Given the description of an element on the screen output the (x, y) to click on. 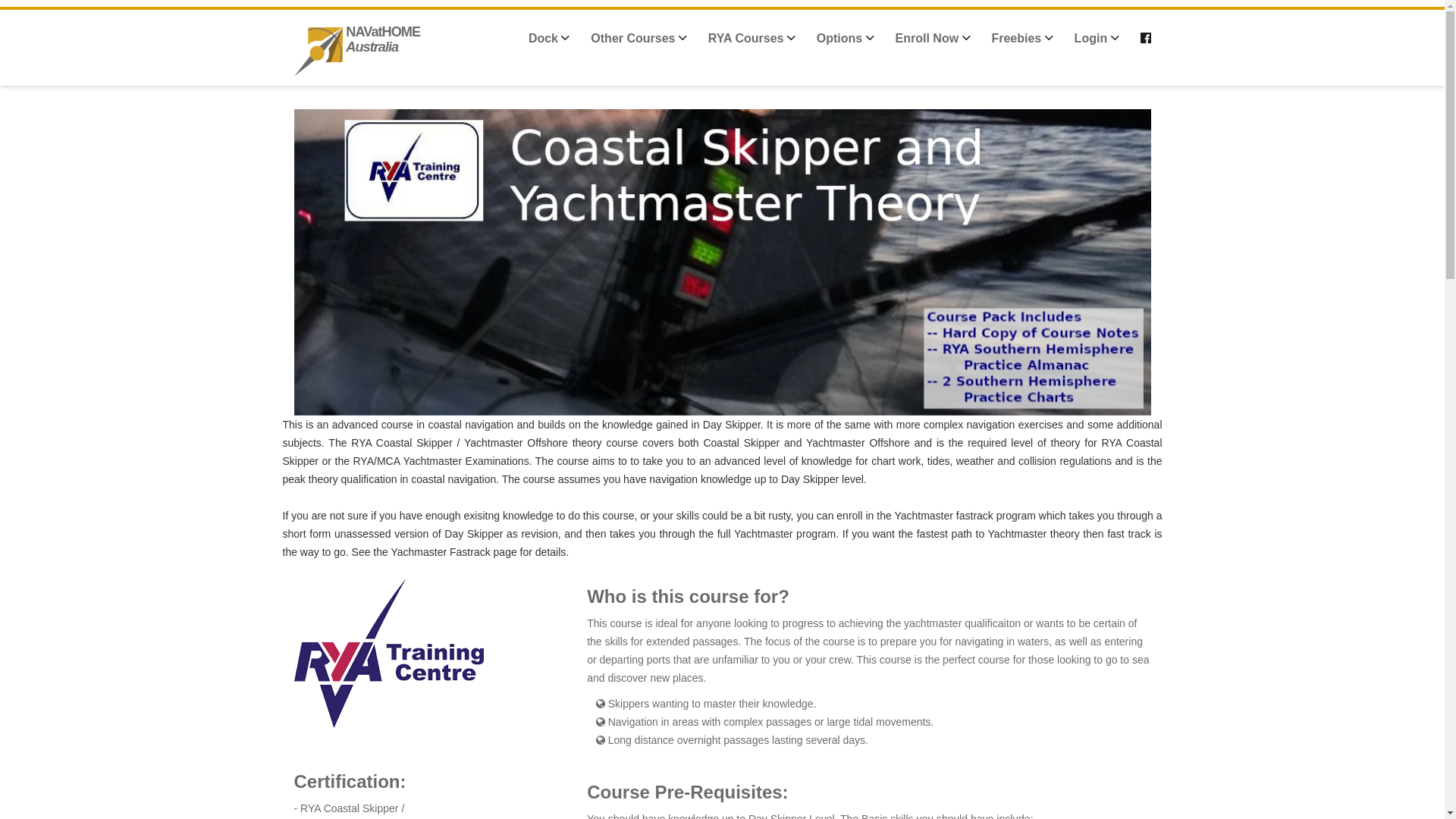
RYA Courses  Element type: text (751, 37)
Check out our Facebook page. Element type: hover (1145, 37)
Enroll Now  Element type: text (932, 37)
Options  Element type: text (845, 37)
Login  Element type: text (1096, 37)
Other Courses  Element type: text (638, 37)
Freebies  Element type: text (1021, 37)
Dock  Element type: text (549, 37)
NAVatHOME Australia Element type: text (392, 42)
